Given the description of an element on the screen output the (x, y) to click on. 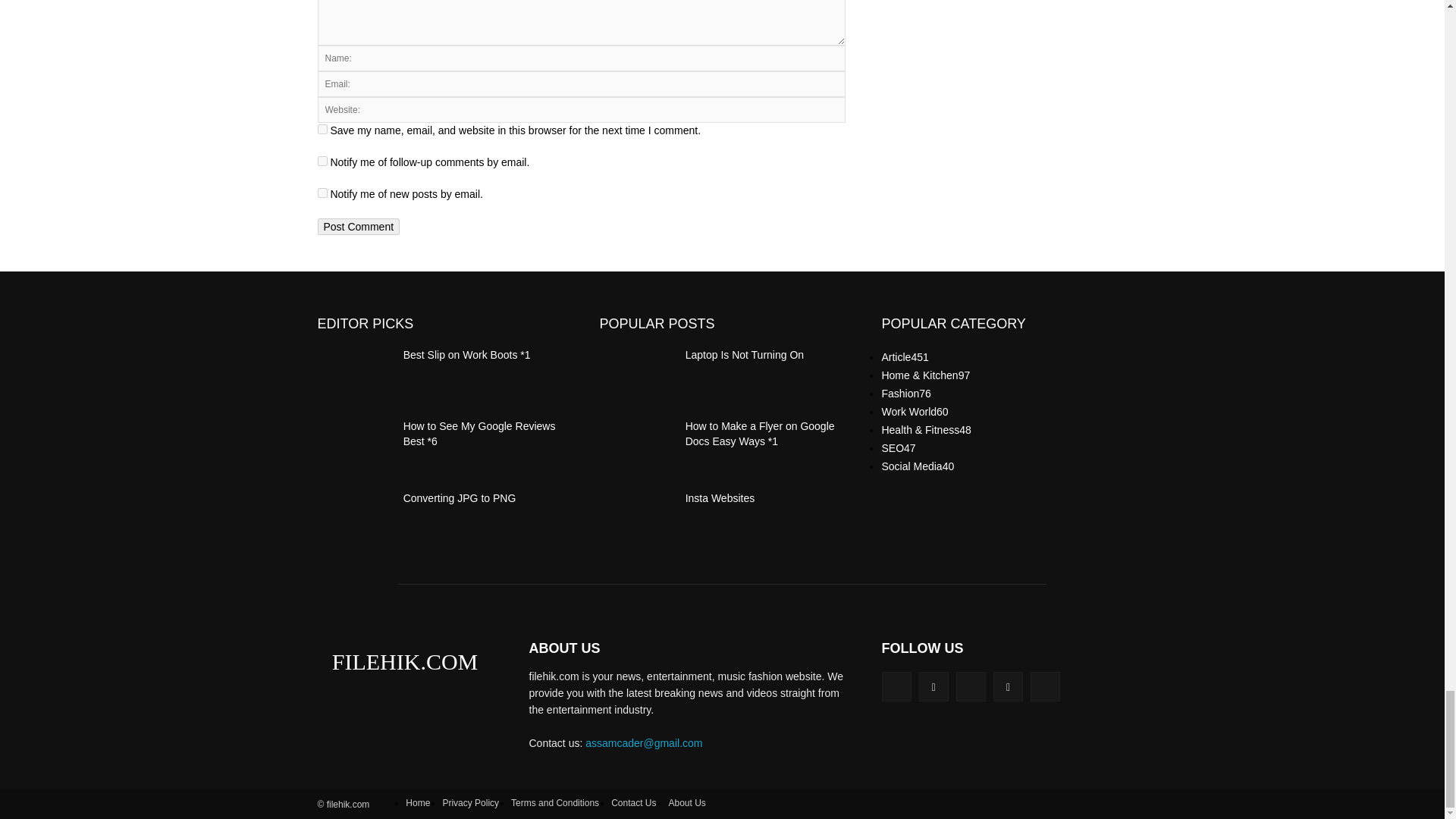
subscribe (321, 161)
yes (321, 129)
Post Comment (357, 226)
subscribe (321, 193)
